Given the description of an element on the screen output the (x, y) to click on. 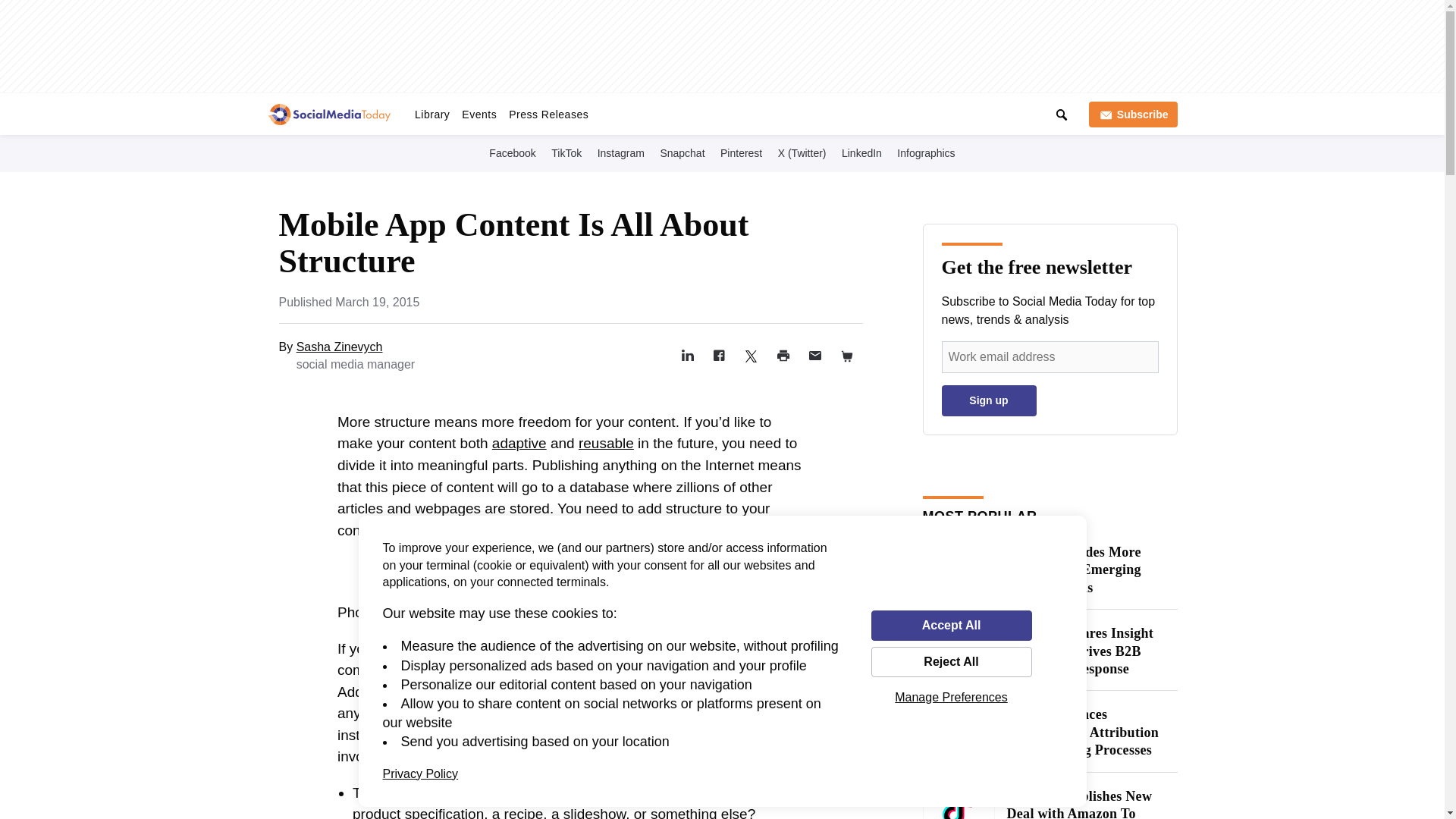
Press Releases (548, 114)
Library (432, 114)
LinkedIn (861, 152)
Instagram (620, 152)
Become a Contributor (806, 110)
adaptive (519, 442)
Facebook (512, 152)
reusable (605, 442)
Infographics (925, 152)
SMT Experts (710, 110)
